Given the description of an element on the screen output the (x, y) to click on. 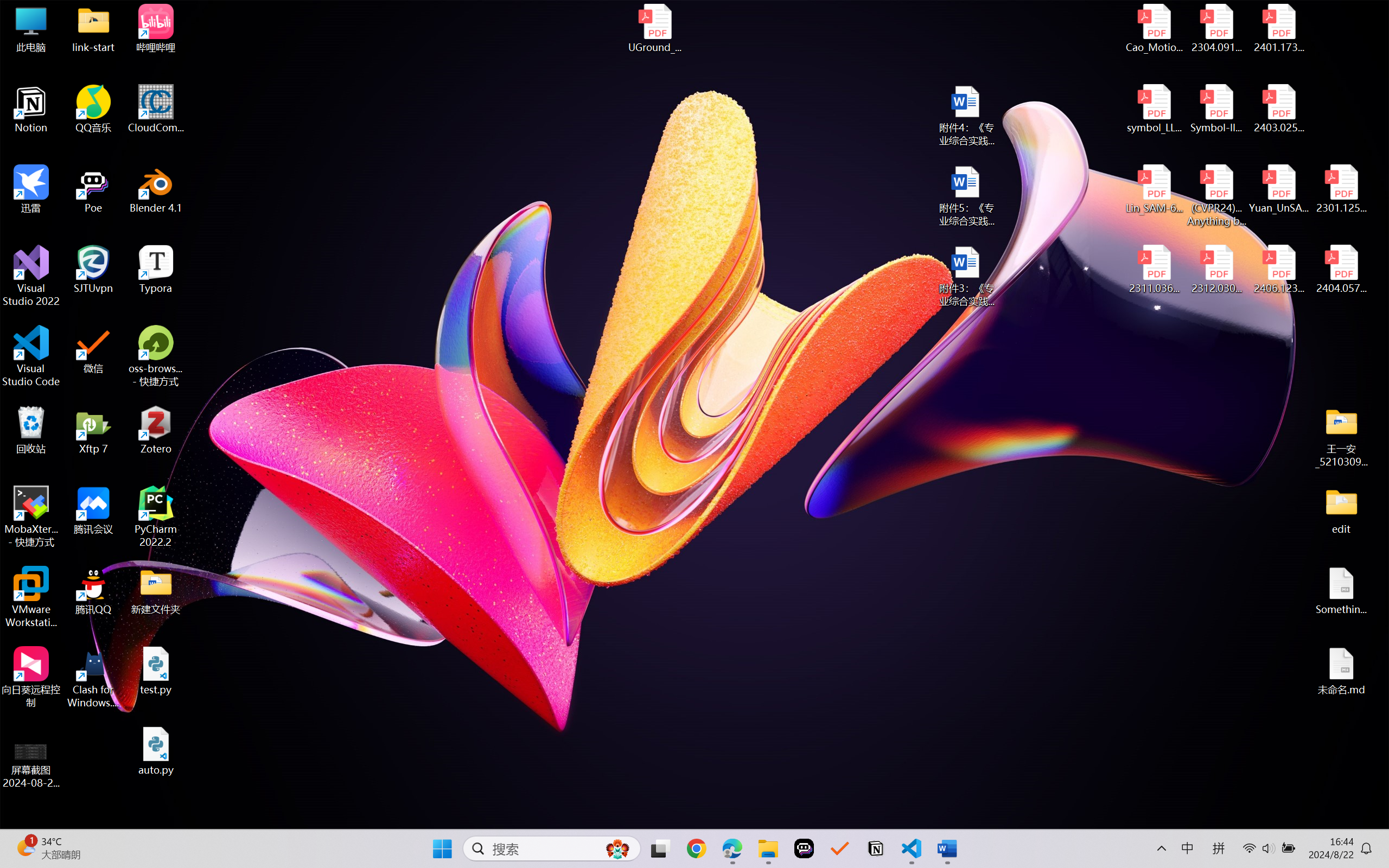
Blender 4.1 (156, 189)
2404.05719v1.pdf (1340, 269)
(CVPR24)Matching Anything by Segmenting Anything.pdf (1216, 195)
Visual Studio Code (31, 355)
test.py (156, 670)
